Given the description of an element on the screen output the (x, y) to click on. 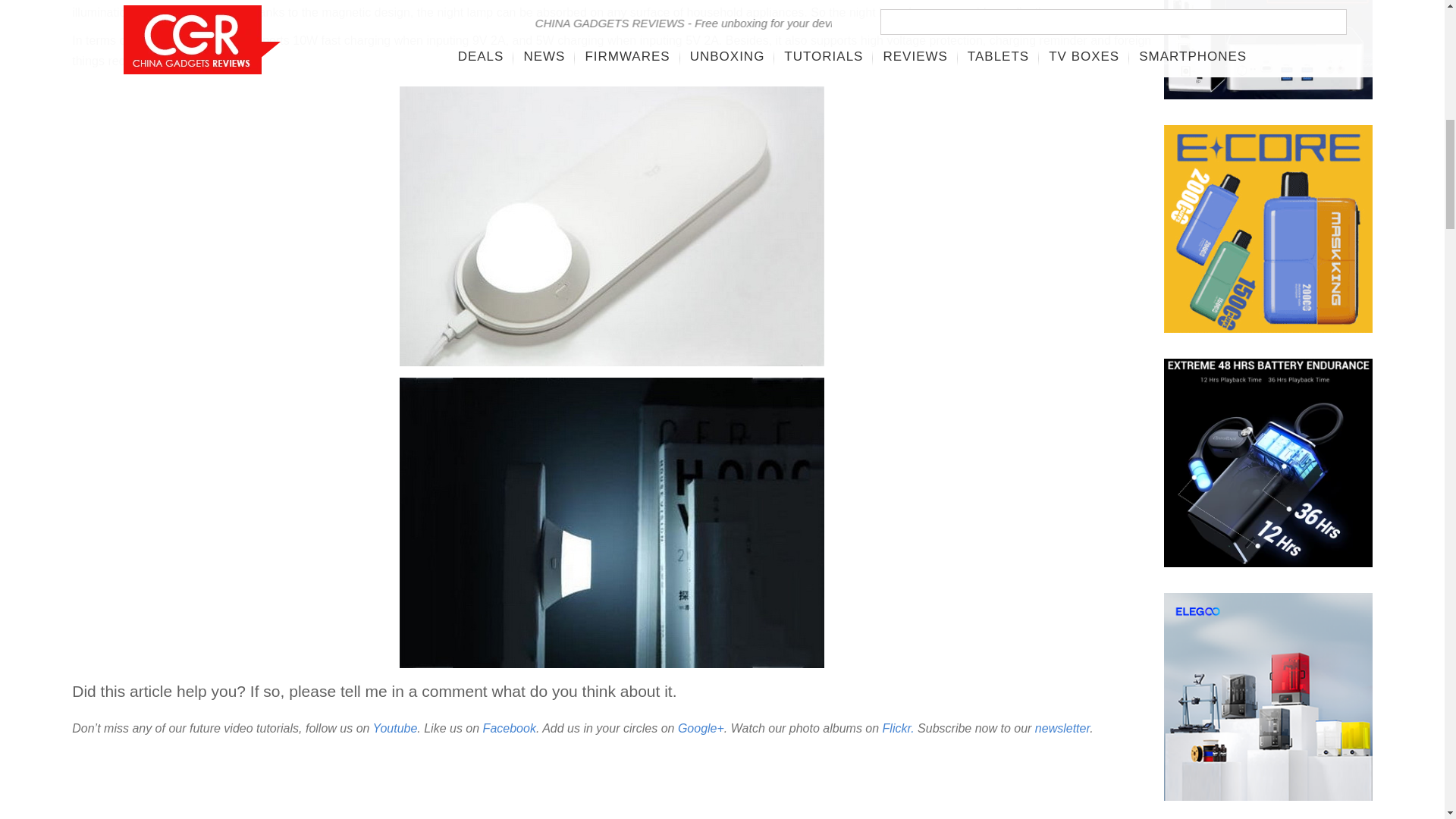
newsletter (1062, 727)
Advertisement (612, 778)
Flickr. (898, 727)
Facebook (509, 727)
Youtube (394, 727)
